Given the description of an element on the screen output the (x, y) to click on. 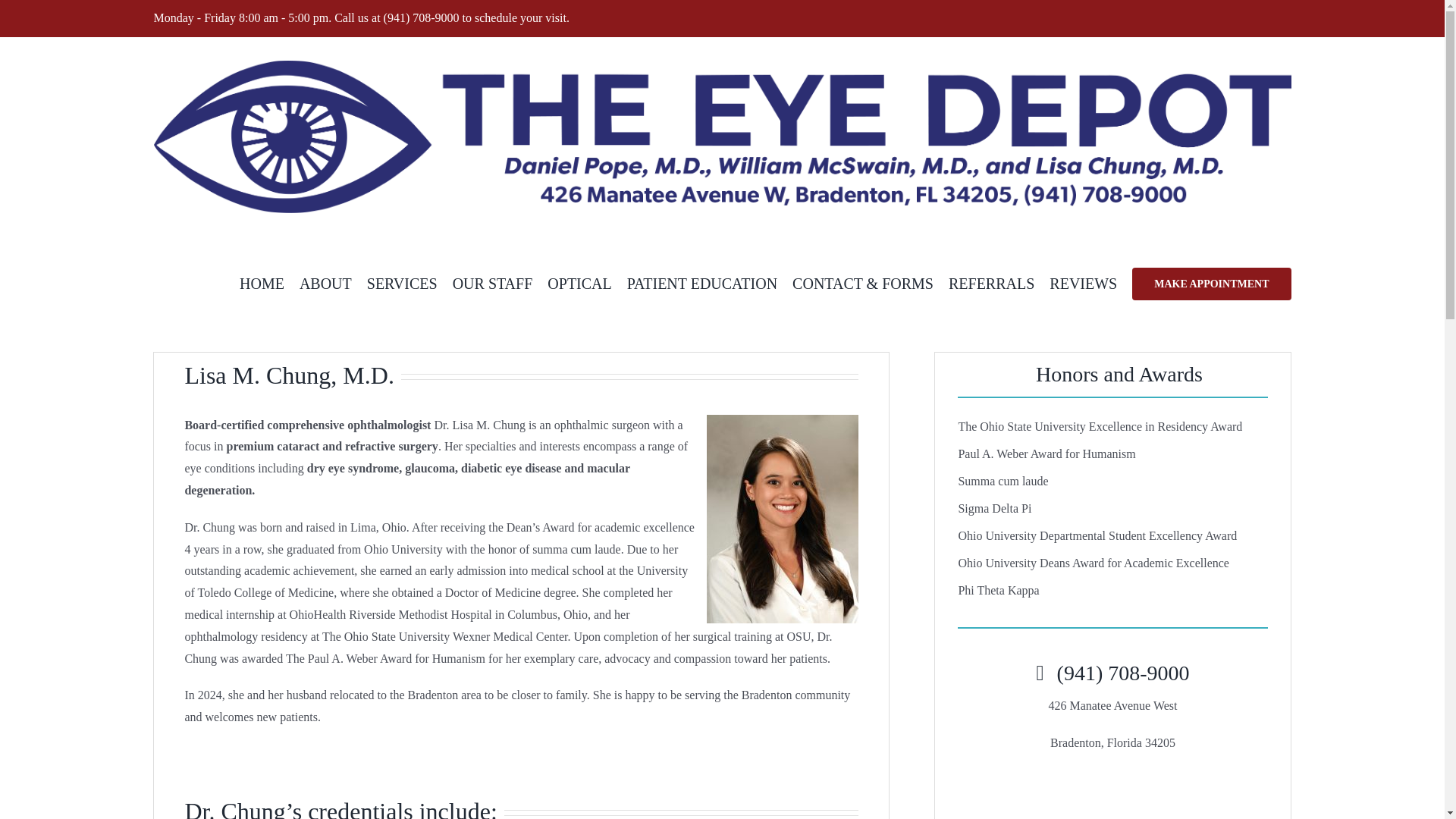
PATIENT EDUCATION (702, 282)
REFERRALS (991, 282)
MAKE APPOINTMENT (1211, 282)
